Given the description of an element on the screen output the (x, y) to click on. 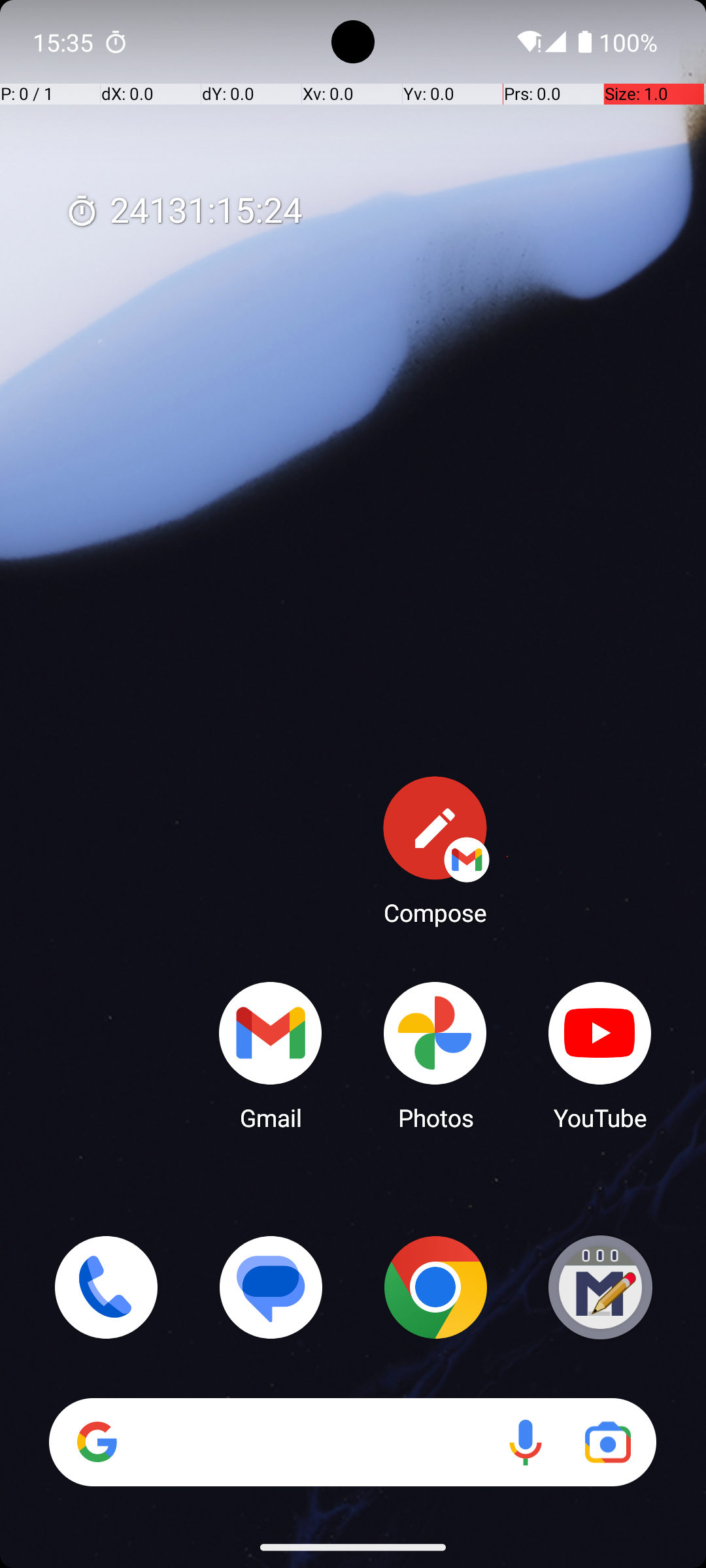
24131:15:23 Element type: android.widget.TextView (183, 210)
